Given the description of an element on the screen output the (x, y) to click on. 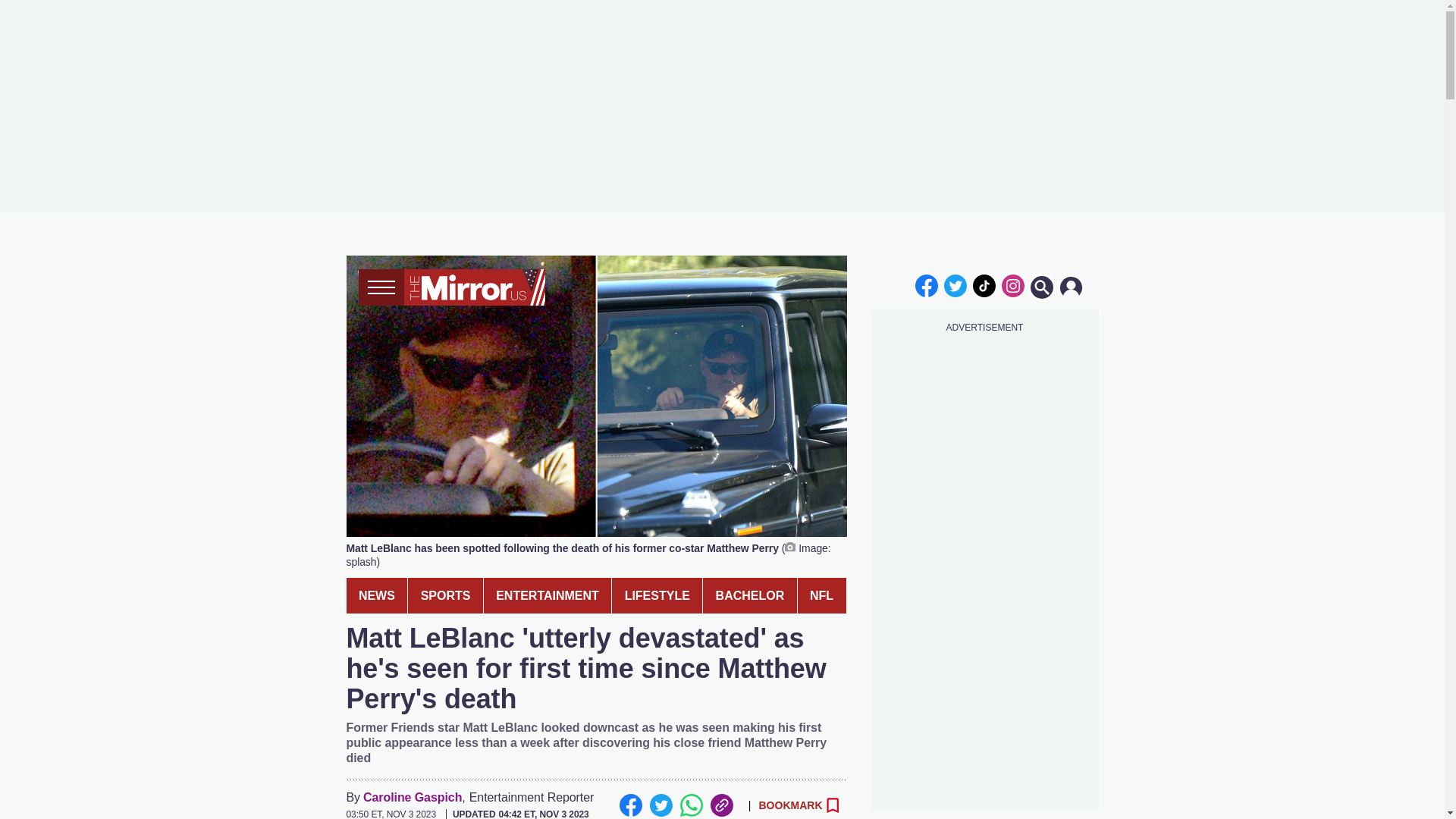
ENTERTAINMENT (547, 595)
instagram (1012, 285)
Facebook (630, 804)
Whatsapp (690, 804)
BACHELOR (749, 595)
facebook (926, 285)
tiktok (984, 285)
NEWS (376, 595)
SPORTS (445, 595)
Caroline Gaspich (411, 797)
